Given the description of an element on the screen output the (x, y) to click on. 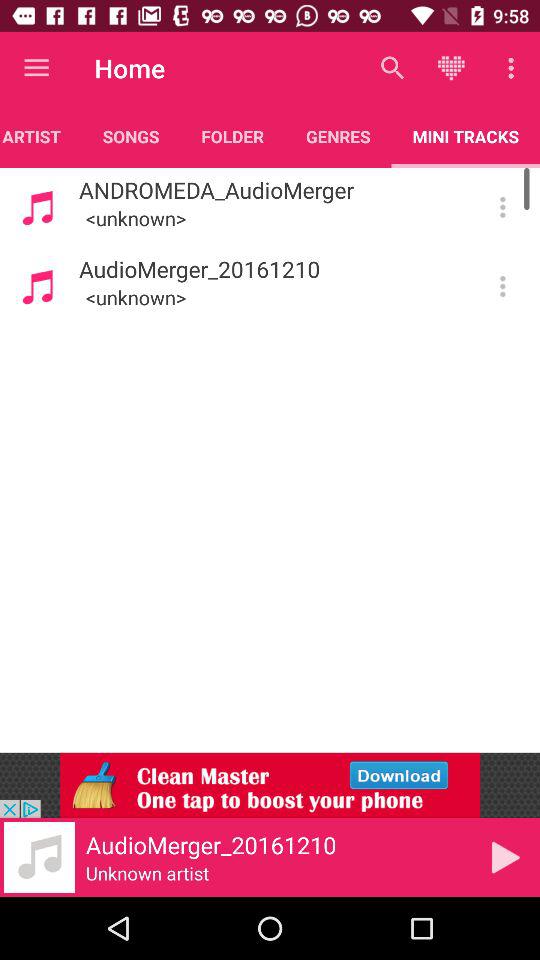
options (502, 207)
